Given the description of an element on the screen output the (x, y) to click on. 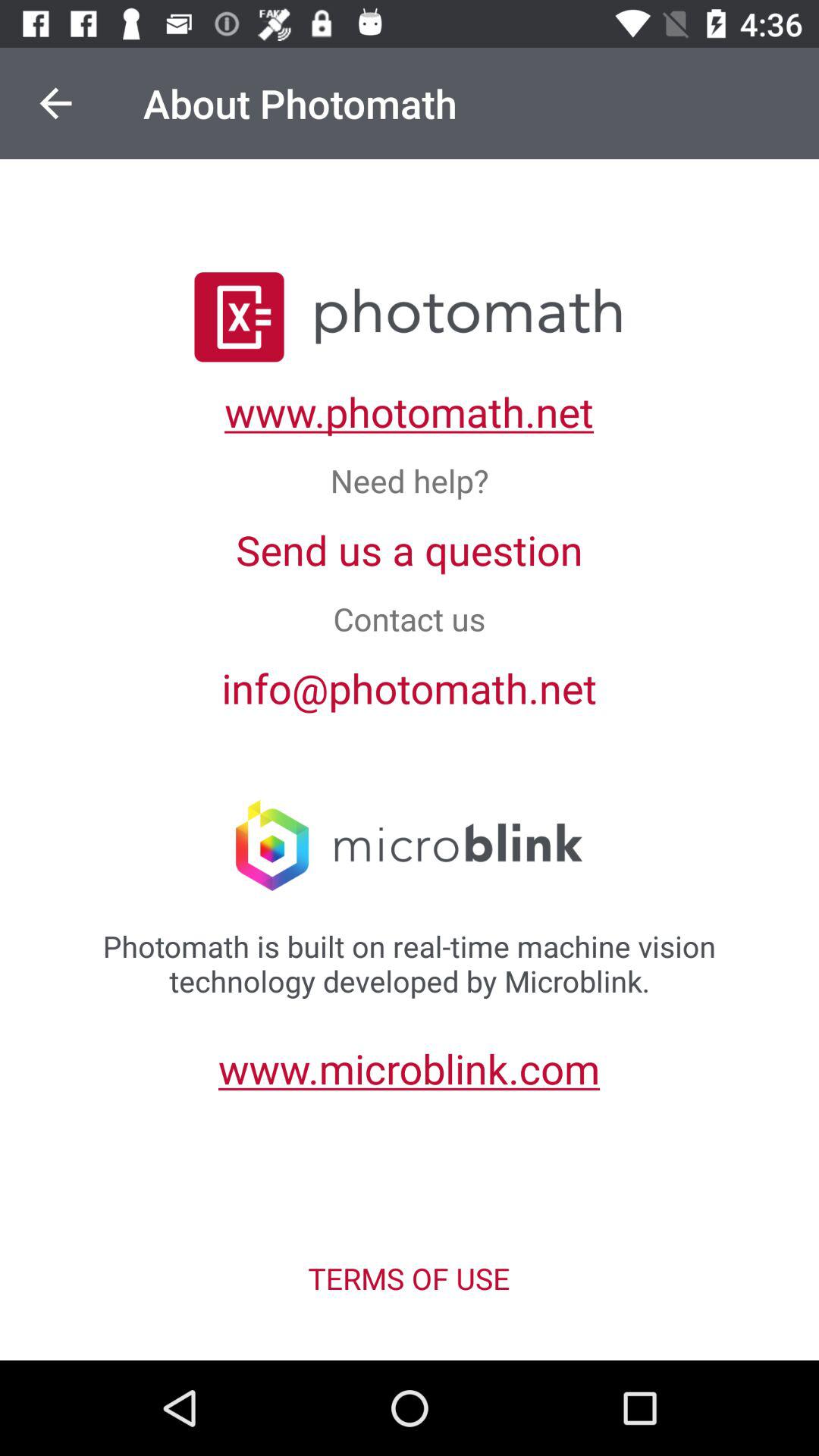
flip to the send us a item (409, 549)
